Given the description of an element on the screen output the (x, y) to click on. 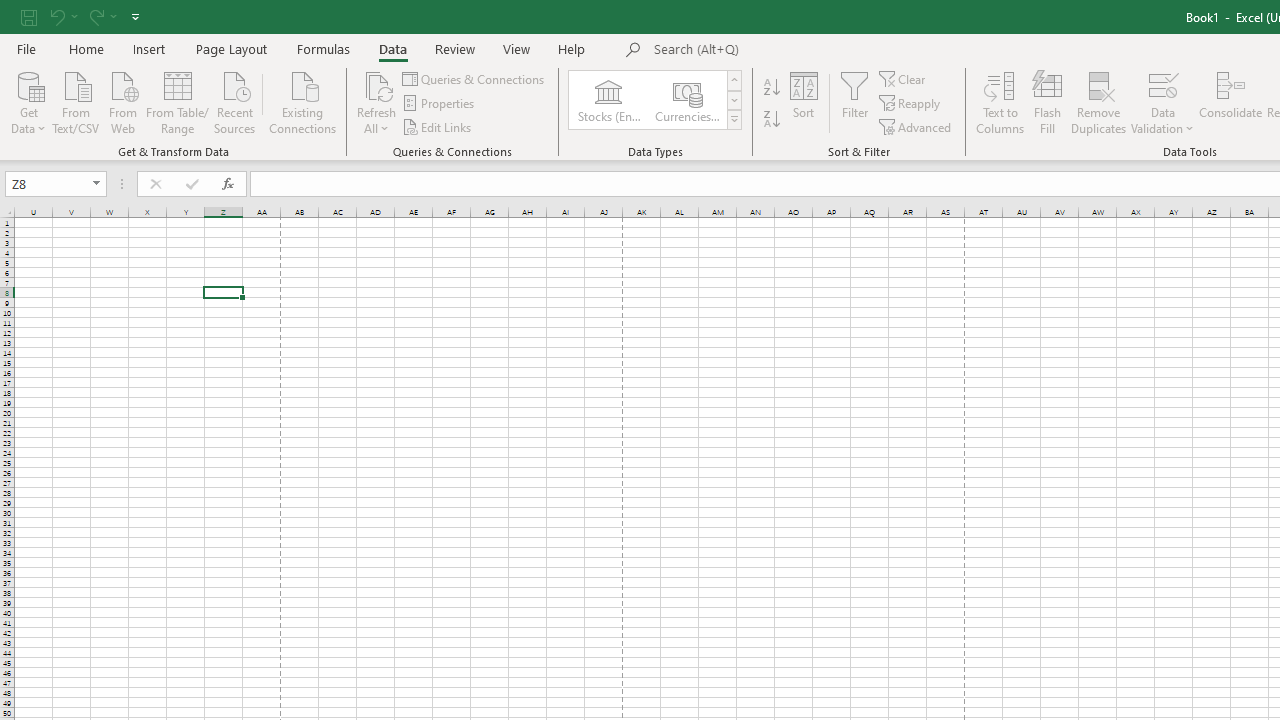
Flash Fill (1047, 102)
Sort Z to A (772, 119)
Recent Sources (235, 101)
Text to Columns... (1000, 102)
Queries & Connections (474, 78)
From Web (122, 101)
Stocks (English) (608, 100)
Remove Duplicates (1098, 102)
